Given the description of an element on the screen output the (x, y) to click on. 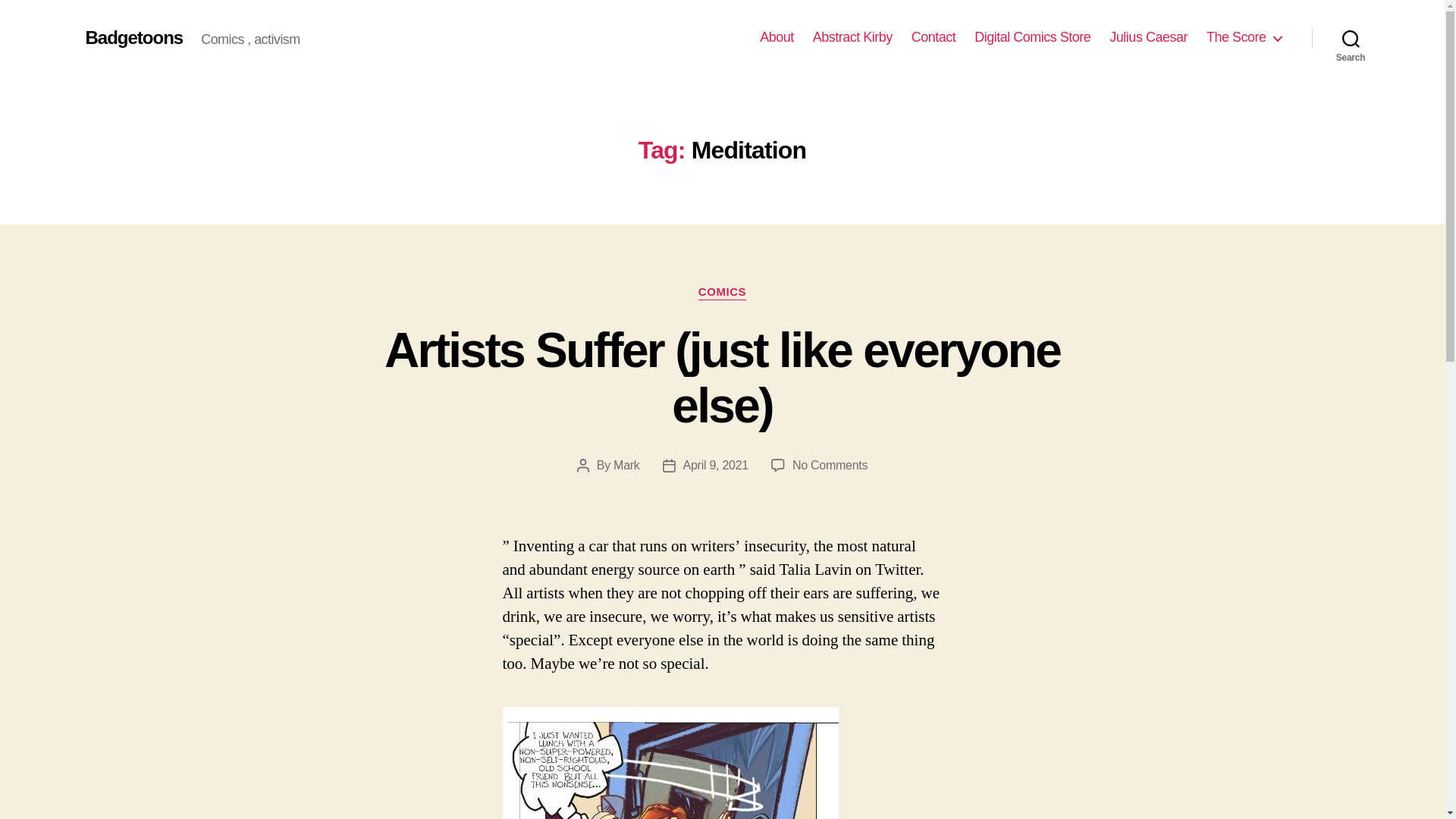
Badgetoons (133, 37)
Julius Caesar (1148, 37)
Abstract Kirby (852, 37)
The Score (1244, 37)
Search (1350, 37)
About (776, 37)
Contact (933, 37)
Digital Comics Store (1032, 37)
